Given the description of an element on the screen output the (x, y) to click on. 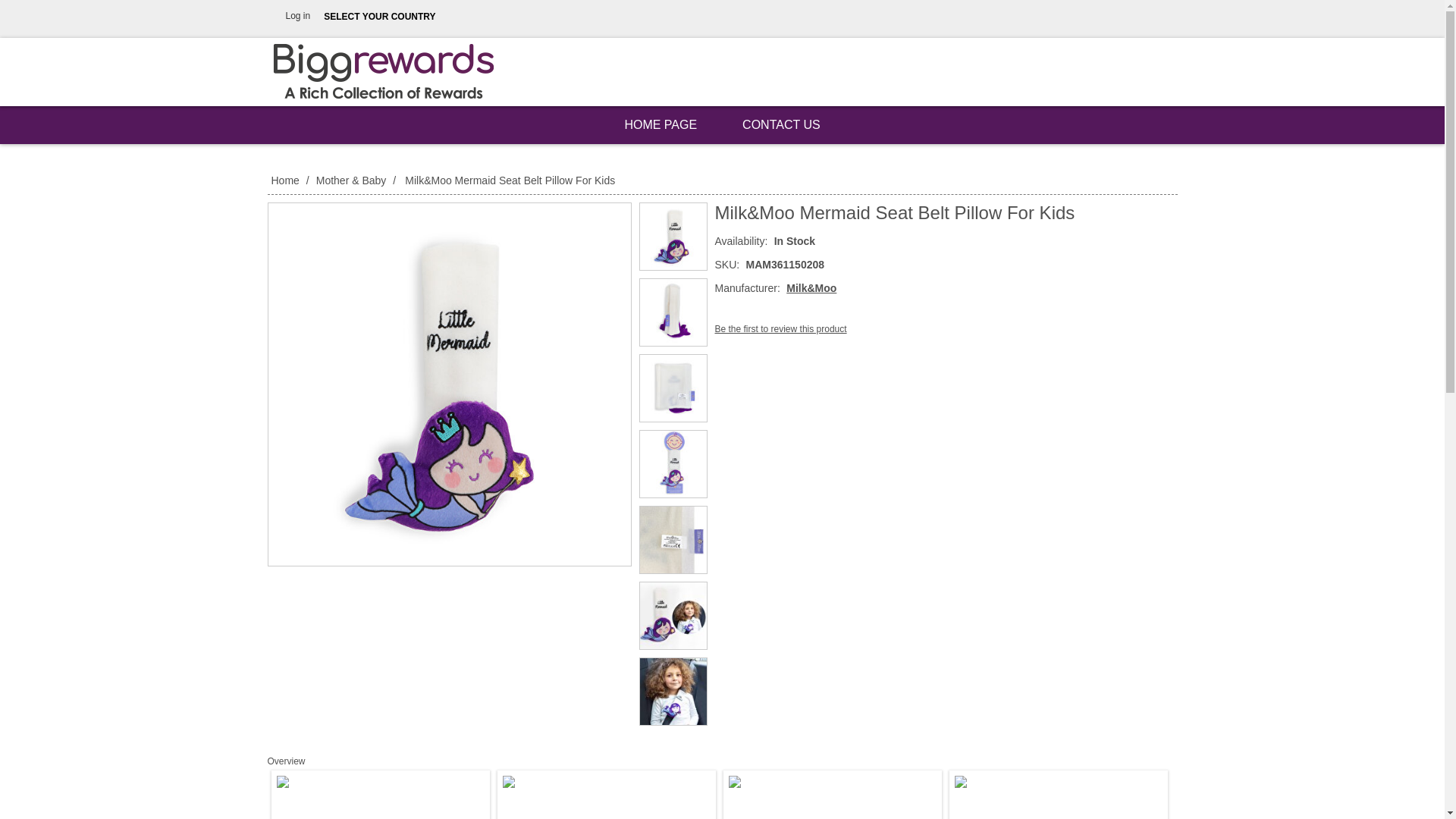
media.product.imagelinktitleformat.details (673, 539)
Home (285, 180)
media.product.imagelinktitleformat.details (673, 236)
CONTACT US (781, 125)
media.product.imagelinktitleformat.details (673, 691)
Overview (285, 760)
media.product.imagelinktitleformat.details (673, 387)
Home Page (660, 125)
media.product.imagelinktitleformat.details (448, 384)
Be the first to review this product (779, 328)
